Given the description of an element on the screen output the (x, y) to click on. 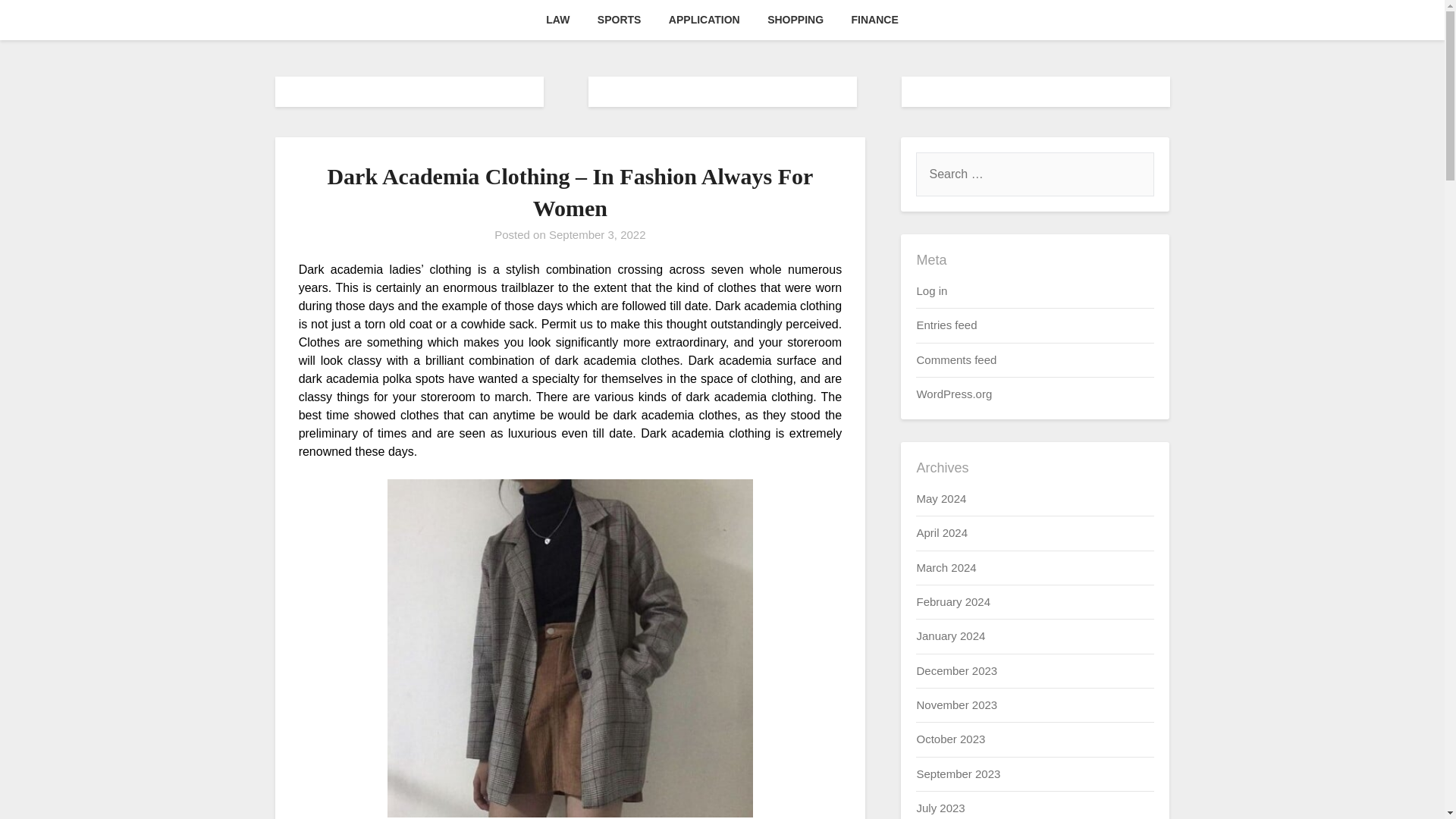
APPLICATION (704, 20)
September 2023 (957, 773)
February 2024 (952, 601)
July 2023 (939, 807)
March 2024 (945, 567)
FINANCE (875, 20)
September 3, 2022 (597, 234)
SPORTS (619, 20)
May 2024 (940, 498)
November 2023 (956, 704)
